Given the description of an element on the screen output the (x, y) to click on. 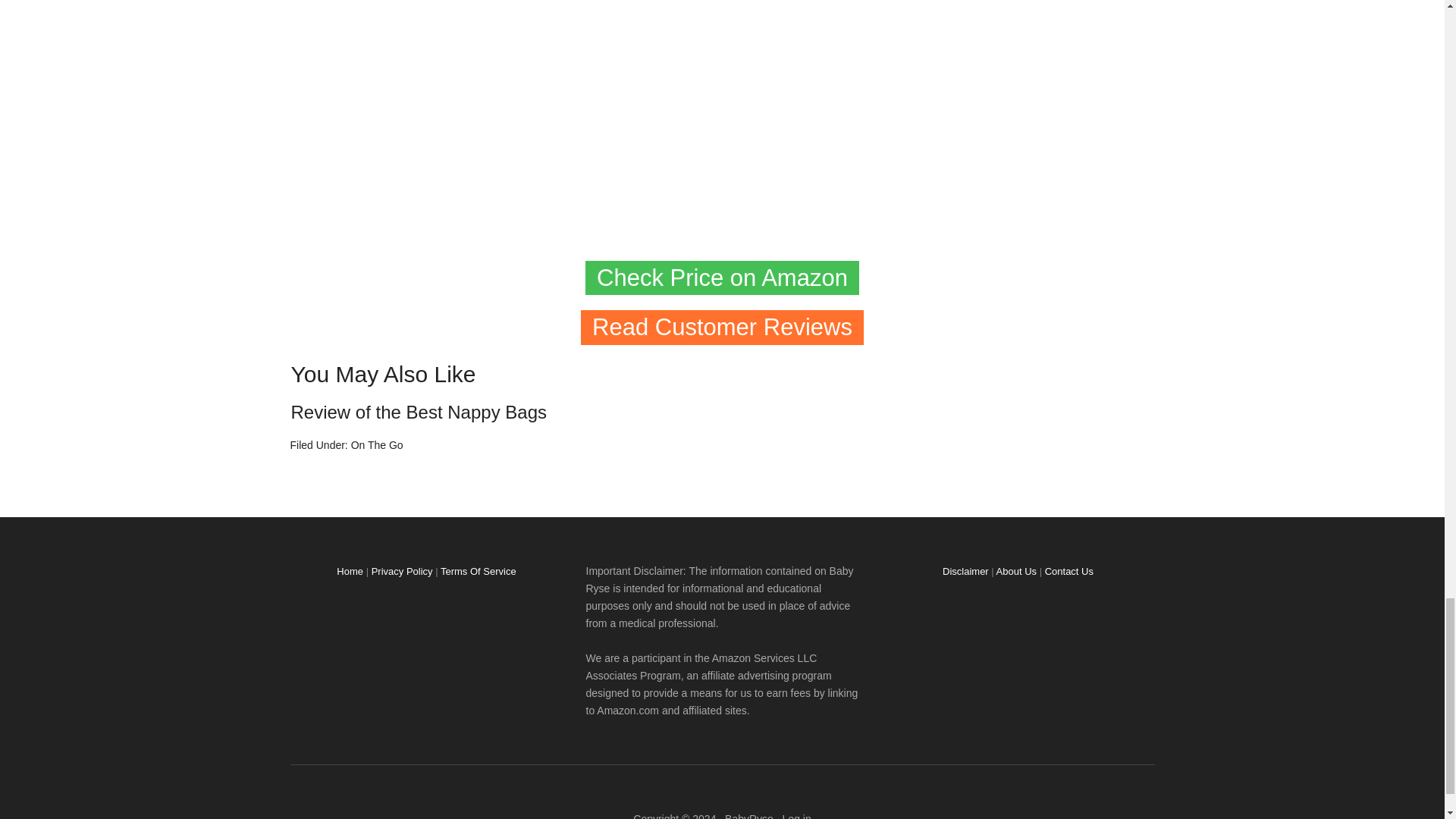
Disclaimer (965, 571)
Read Customer Reviews (721, 327)
On The Go (376, 444)
Log in (796, 816)
About Us (1015, 571)
Terms Of Service (478, 571)
Check Price on Amazon (722, 278)
Privacy Policy (401, 571)
Home (349, 571)
Review of the Best Nappy Bags (419, 412)
